Given the description of an element on the screen output the (x, y) to click on. 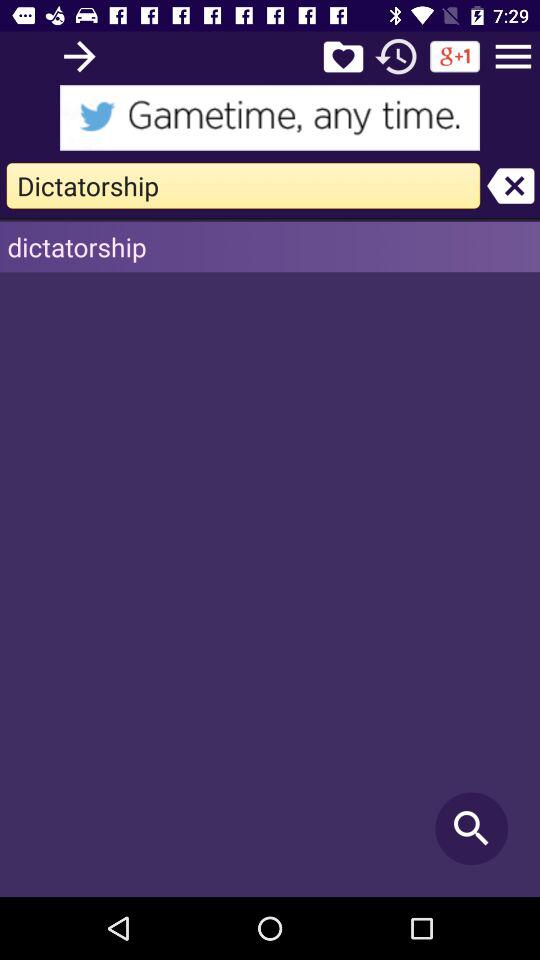
clear search bar (510, 185)
